Given the description of an element on the screen output the (x, y) to click on. 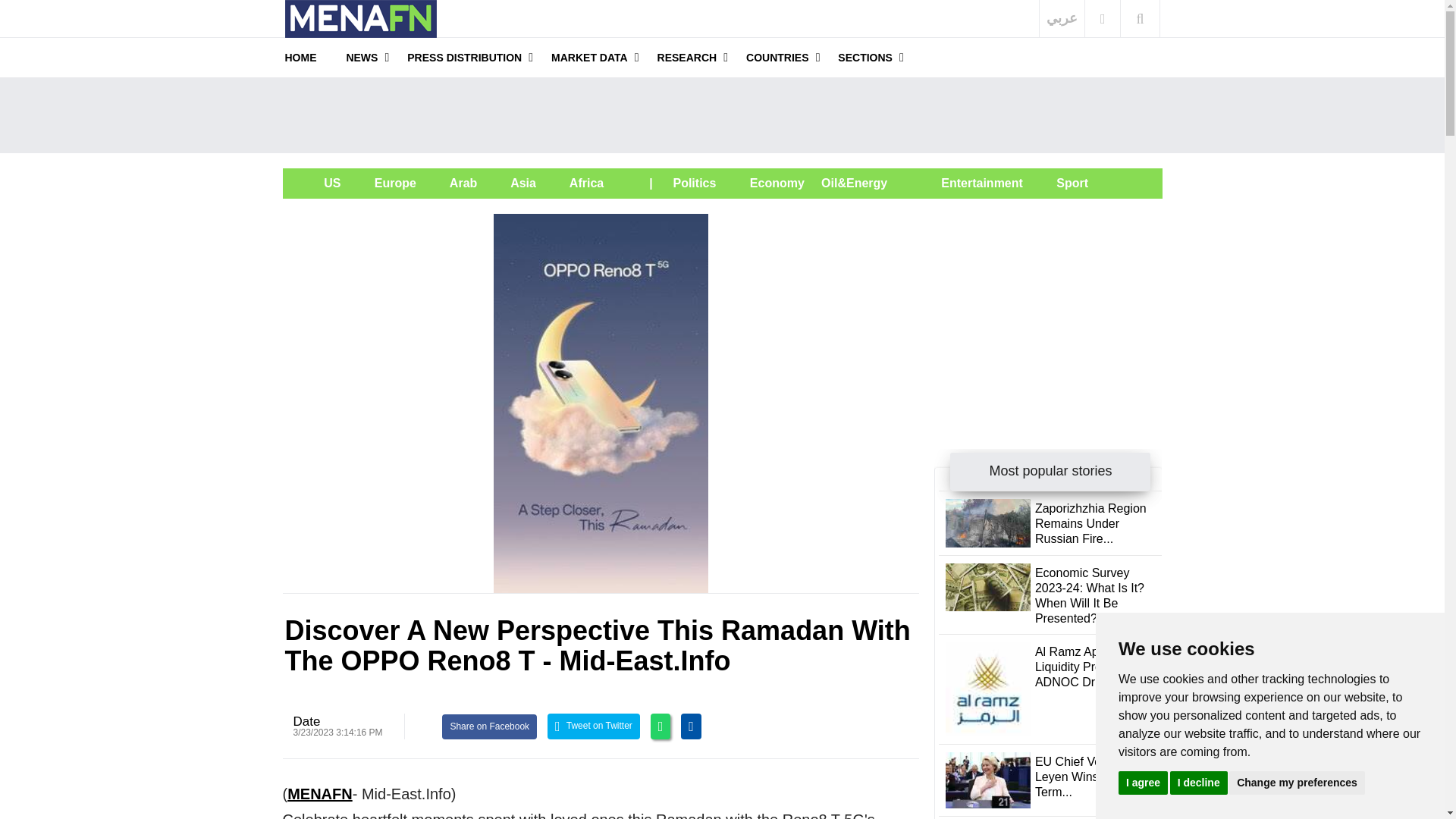
I decline (1198, 781)
Change my preferences (1296, 781)
Advertisement (1047, 308)
I agree (1142, 781)
MARKET DATA (589, 56)
PRESS DISTRIBUTION (464, 56)
Posts by NewEdge (306, 721)
Advertisement (721, 115)
